Given the description of an element on the screen output the (x, y) to click on. 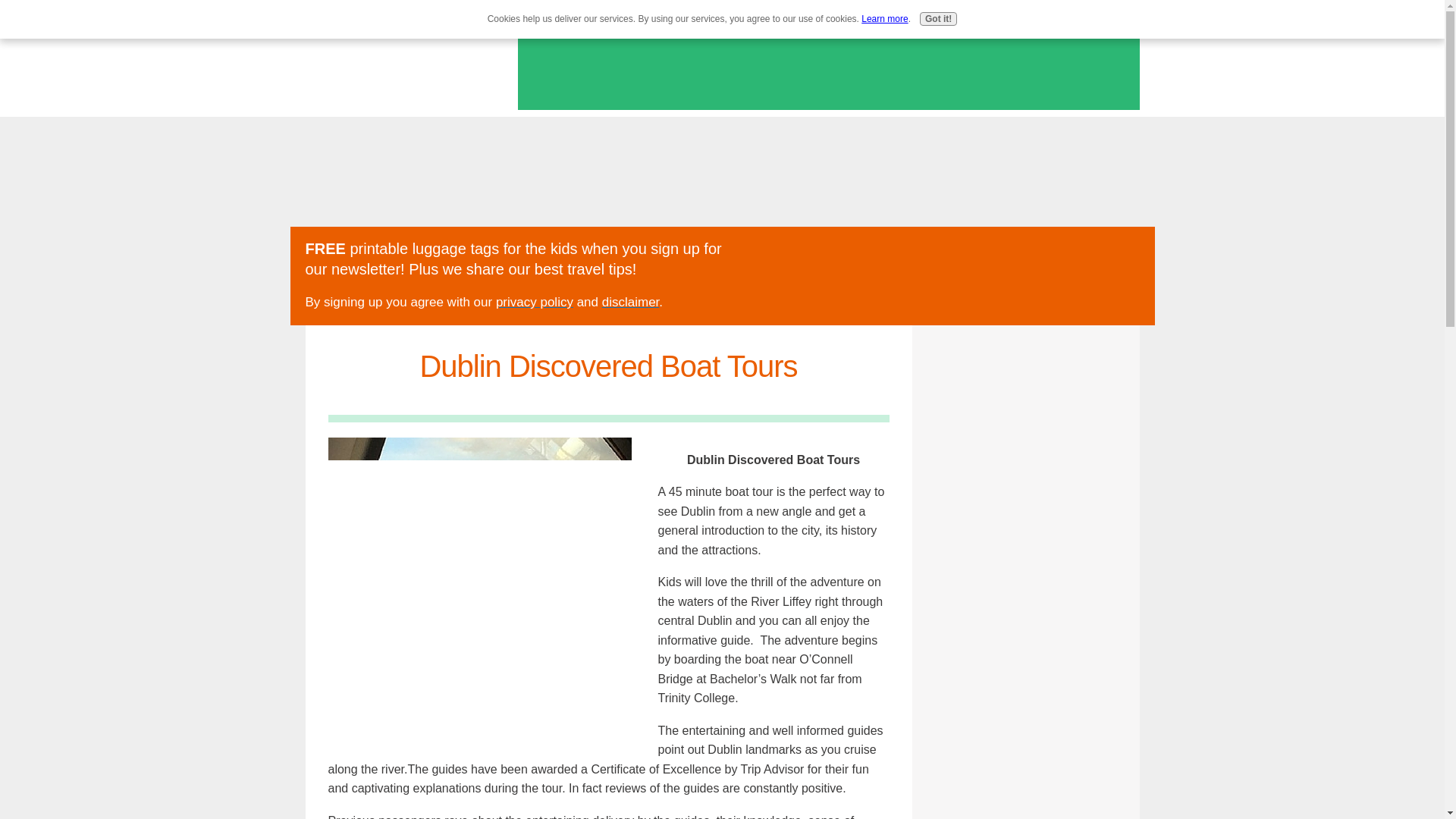
Family-Travel-Scoop.com (398, 70)
